Given the description of an element on the screen output the (x, y) to click on. 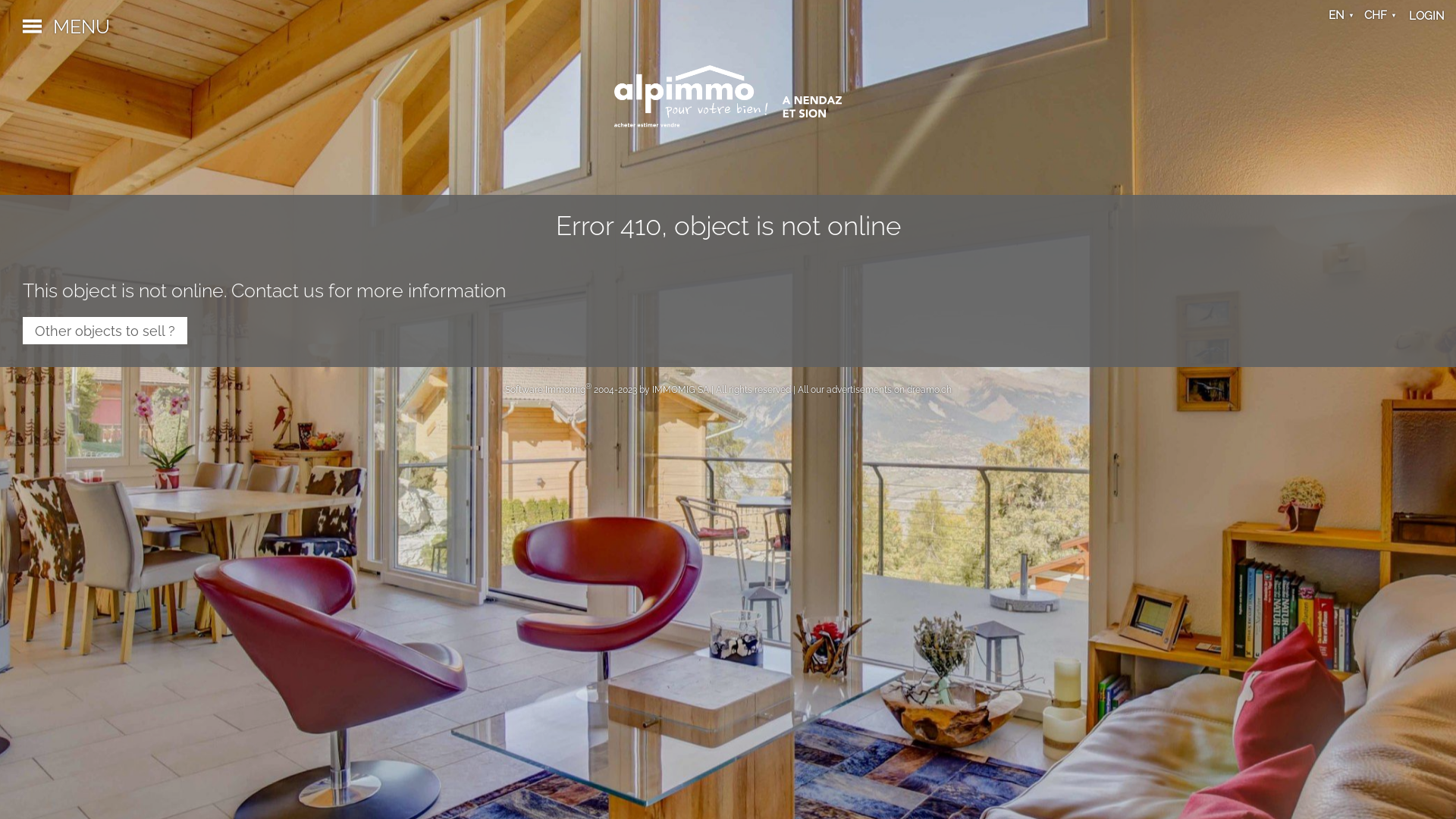
dreamo.ch Element type: text (928, 389)
Other objects to sell ? Element type: text (104, 330)
LOGIN Element type: text (1426, 15)
